Given the description of an element on the screen output the (x, y) to click on. 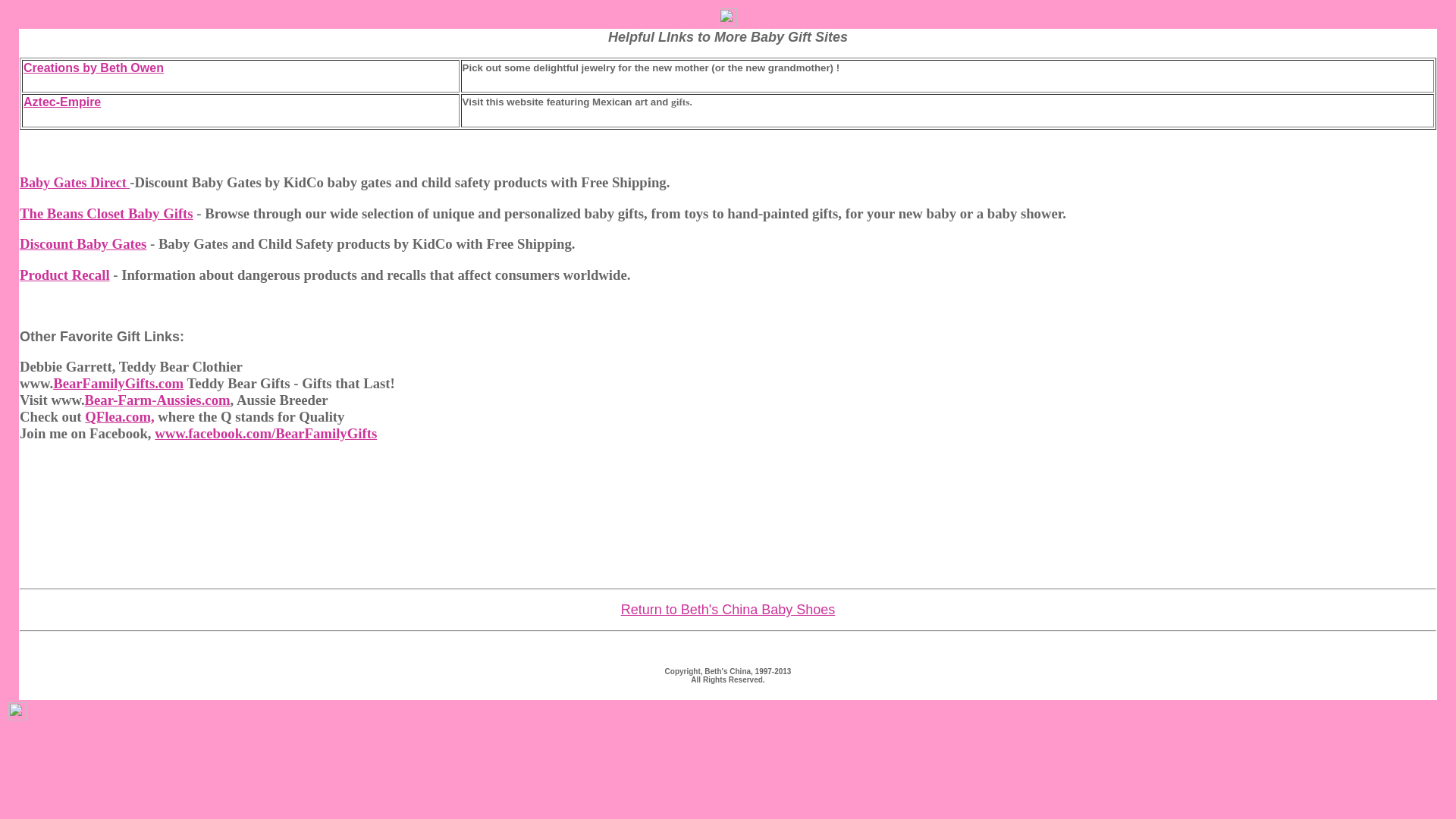
BearFamilyGifts.com (117, 383)
Return to Beth's China Baby Shoes (728, 609)
Product Recall (65, 274)
Baby Gates Direct (74, 182)
Creations by Beth Owen (93, 67)
Bear-Farm-Aussies.com (157, 399)
Aztec-Empire (61, 101)
The Beans Closet Baby Gifts (106, 213)
Discount Baby Gates (83, 243)
QFlea.com, (119, 416)
